Given the description of an element on the screen output the (x, y) to click on. 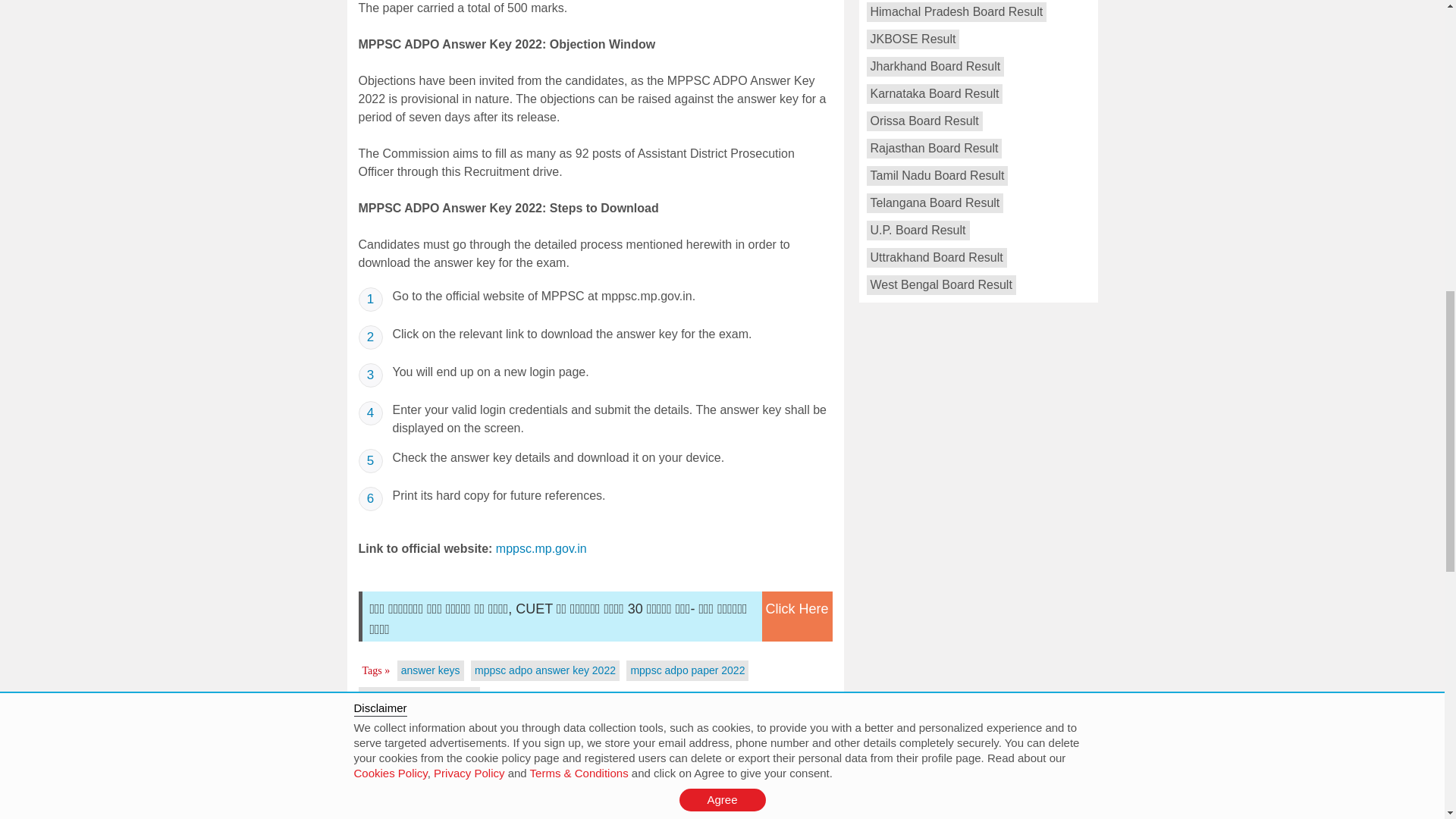
mppsc adpo answer key 2022 (544, 670)
answer keys (430, 670)
mppsc adpo paper 2022 (687, 670)
mppsc.mp.gov.in (541, 548)
mppsc adpo answer key (419, 696)
